Given the description of an element on the screen output the (x, y) to click on. 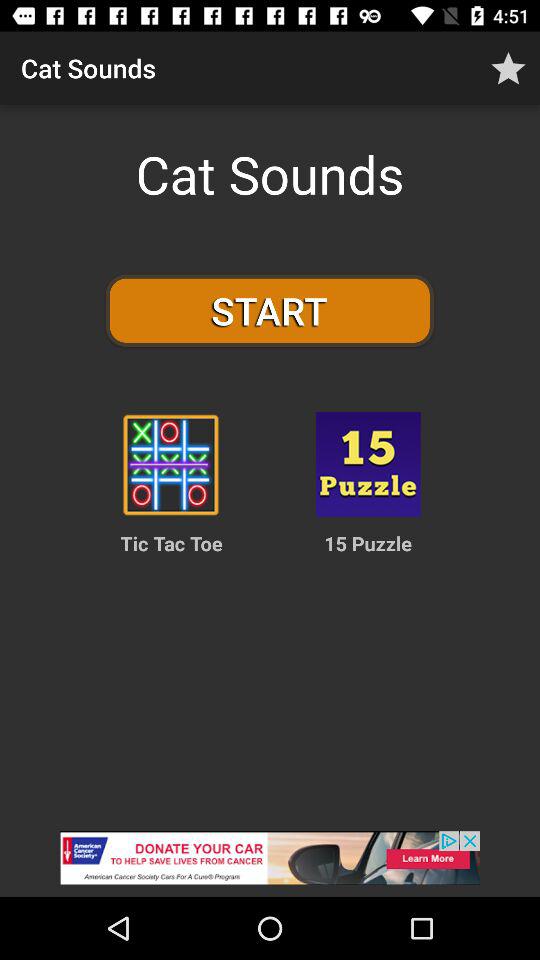
advertisement banner (270, 864)
